Given the description of an element on the screen output the (x, y) to click on. 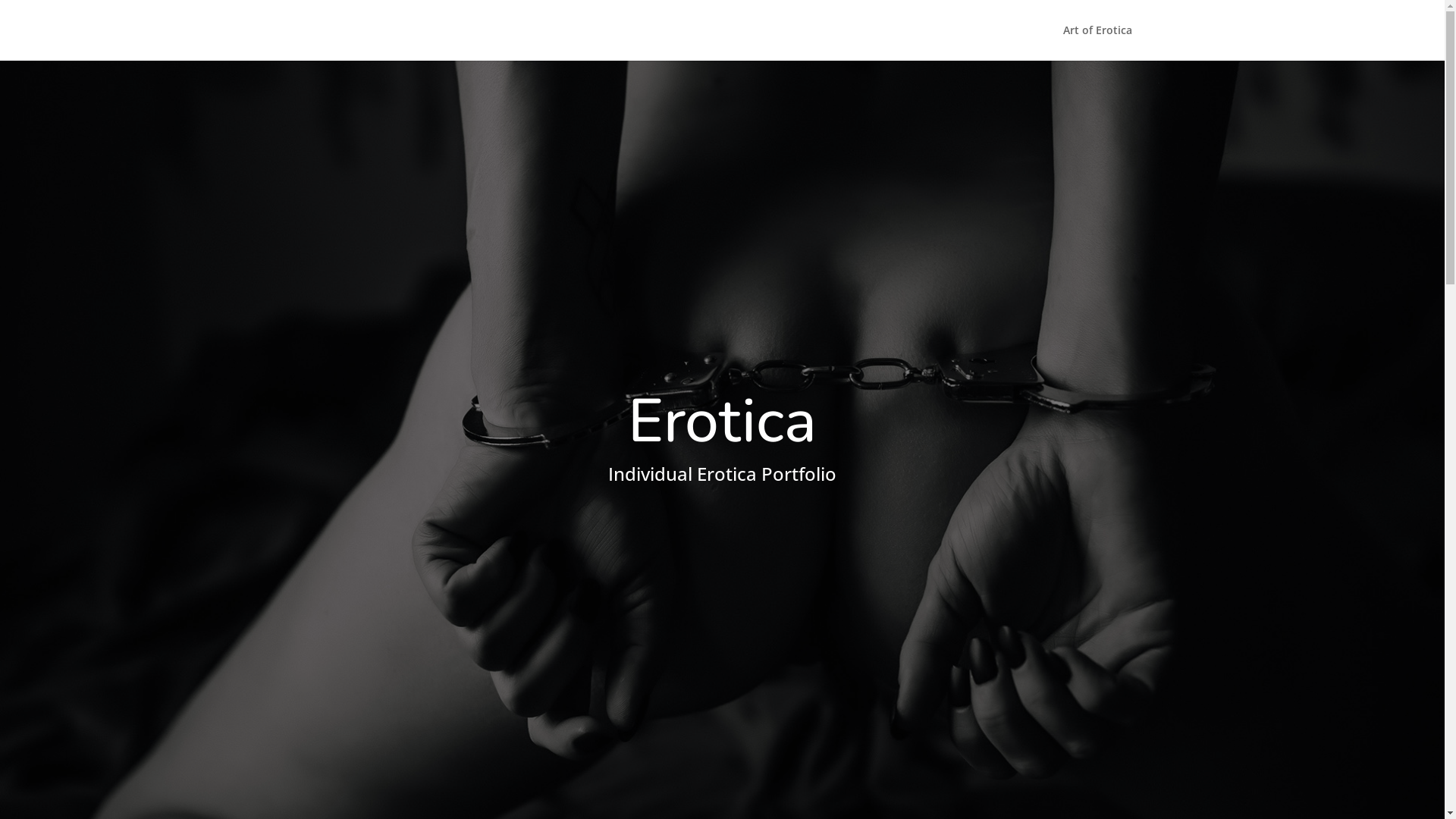
Art of Erotica Element type: text (1097, 42)
